Given the description of an element on the screen output the (x, y) to click on. 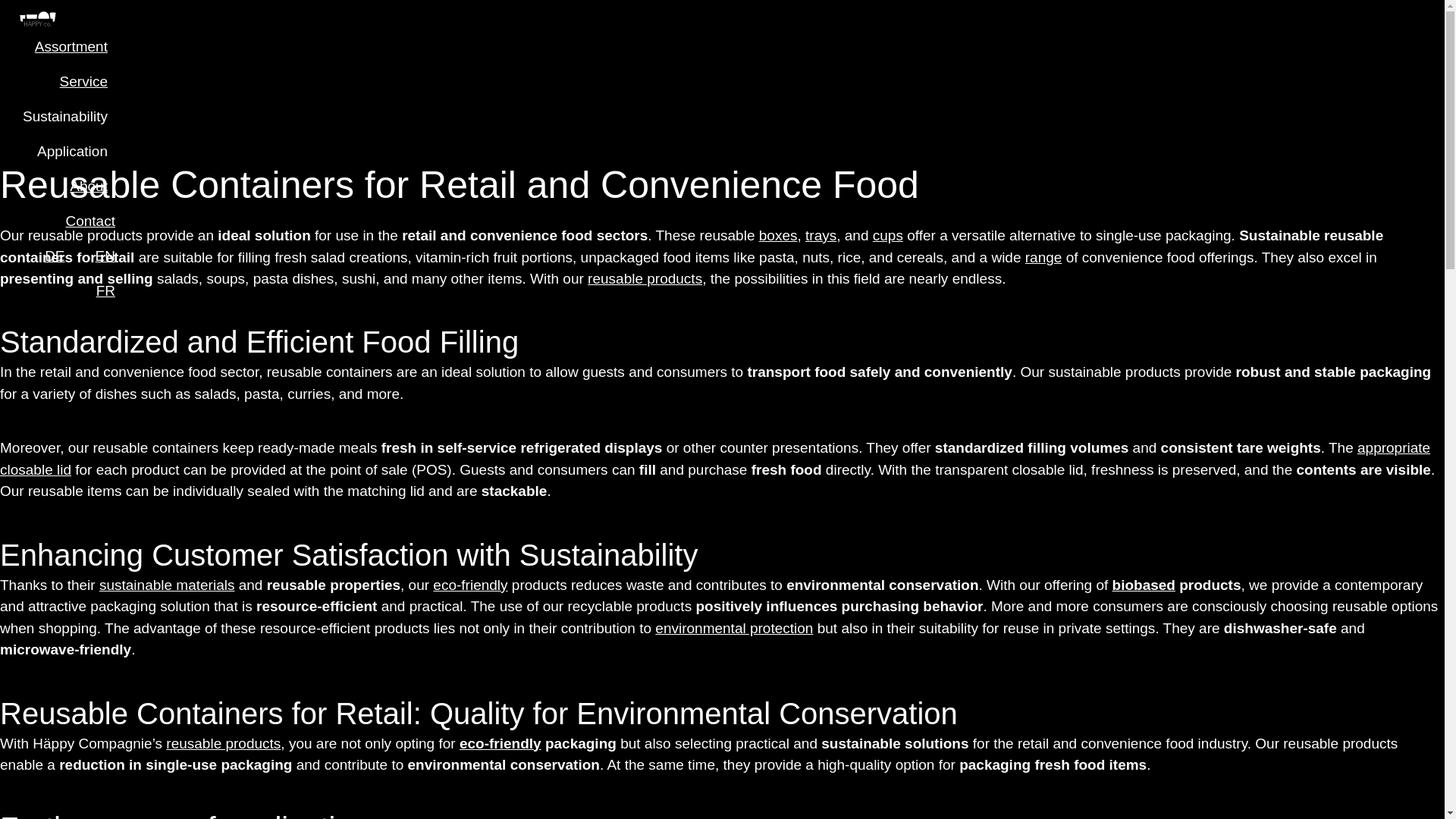
Service (88, 80)
DE (54, 255)
About (93, 185)
FR (106, 289)
Assortment (75, 45)
Sustainability (69, 115)
Contact (89, 220)
Application (76, 150)
EN (105, 255)
